Given the description of an element on the screen output the (x, y) to click on. 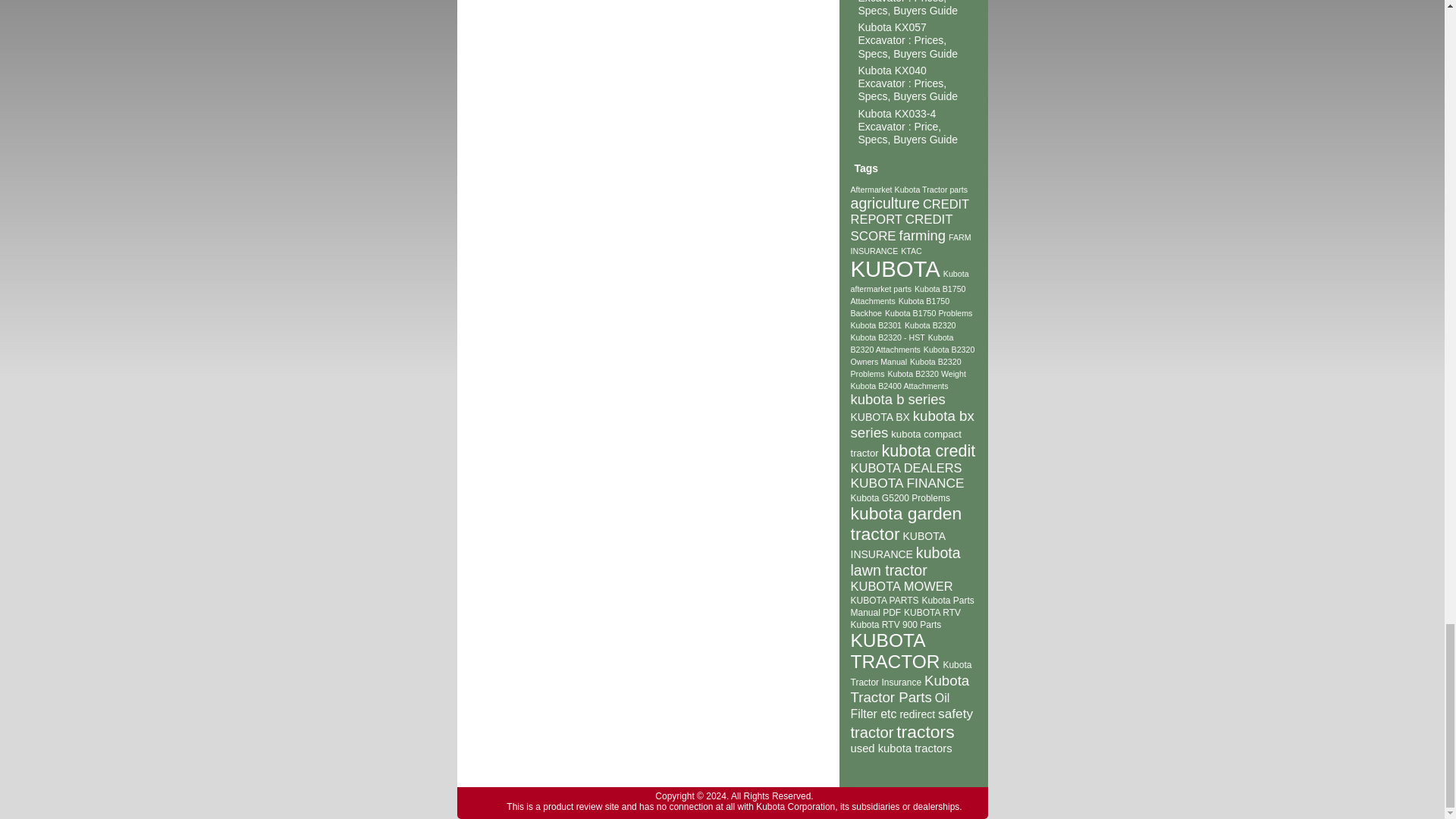
Kubota  RSS Feed (472, 802)
